Given the description of an element on the screen output the (x, y) to click on. 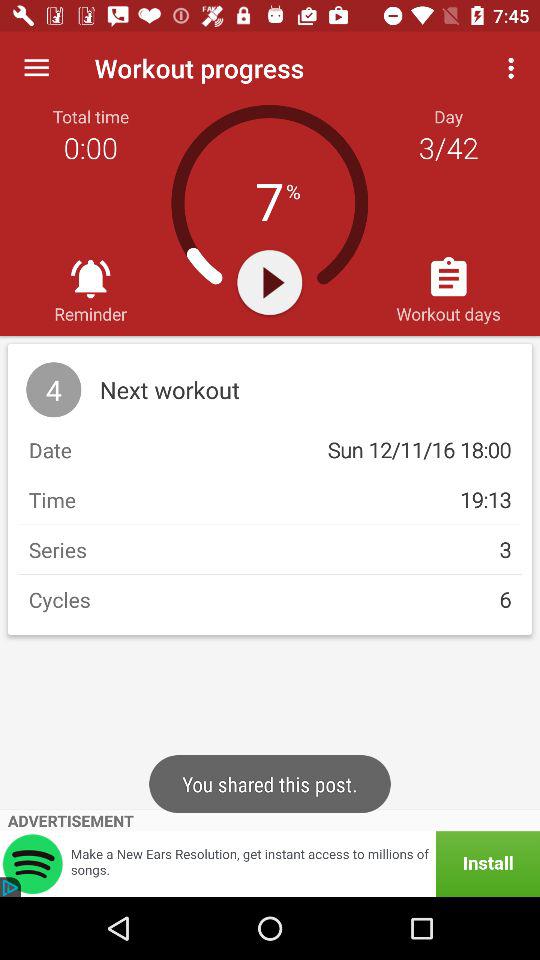
turn off the app to the left of workout progress icon (36, 68)
